Given the description of an element on the screen output the (x, y) to click on. 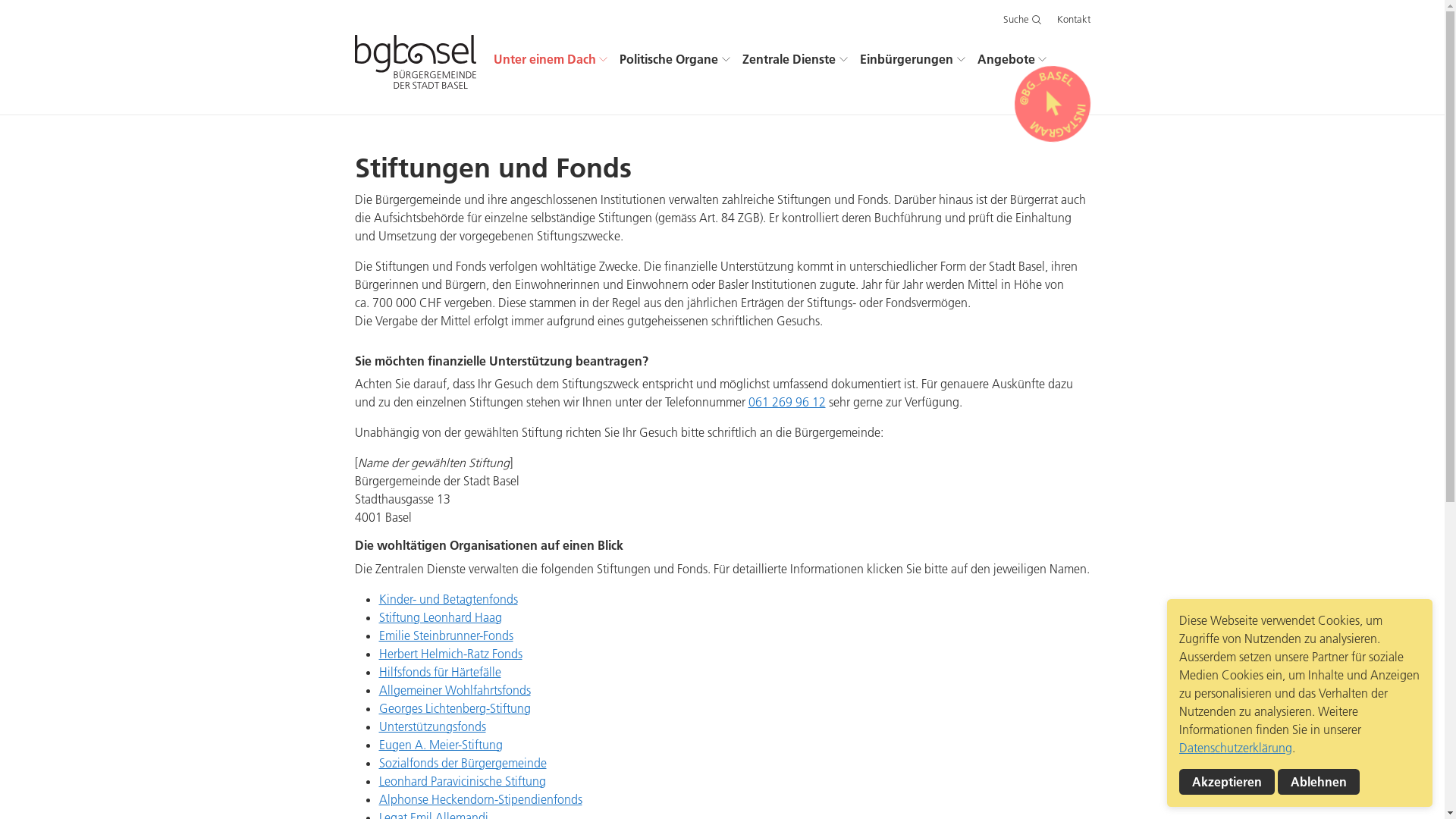
Allgemeiner Wohlfahrtsfonds Element type: text (454, 689)
Alphonse Heckendorn-Stipendienfonds Element type: text (480, 798)
Suche Element type: text (1021, 19)
Emilie Steinbrunner-Fonds Element type: text (446, 635)
Kontakt Element type: text (1073, 19)
Stiftung Leonhard Haag Element type: text (440, 616)
Zentrale Dienste Element type: text (794, 59)
Georges Lichtenberg-Stiftung Element type: text (454, 707)
Unter einem Dach Element type: text (549, 59)
Politische Organe Element type: text (674, 59)
Kinder- und Betagtenfonds Element type: text (448, 598)
Angebote Element type: text (1012, 59)
Eugen A. Meier-Stiftung Element type: text (440, 744)
 INSTAGRAM     @BG_BASEL  Element type: text (1052, 103)
Herbert Helmich-Ratz Fonds Element type: text (450, 653)
Leonhard Paravicinische Stiftung Element type: text (462, 780)
061 269 96 12 Element type: text (786, 401)
